Given the description of an element on the screen output the (x, y) to click on. 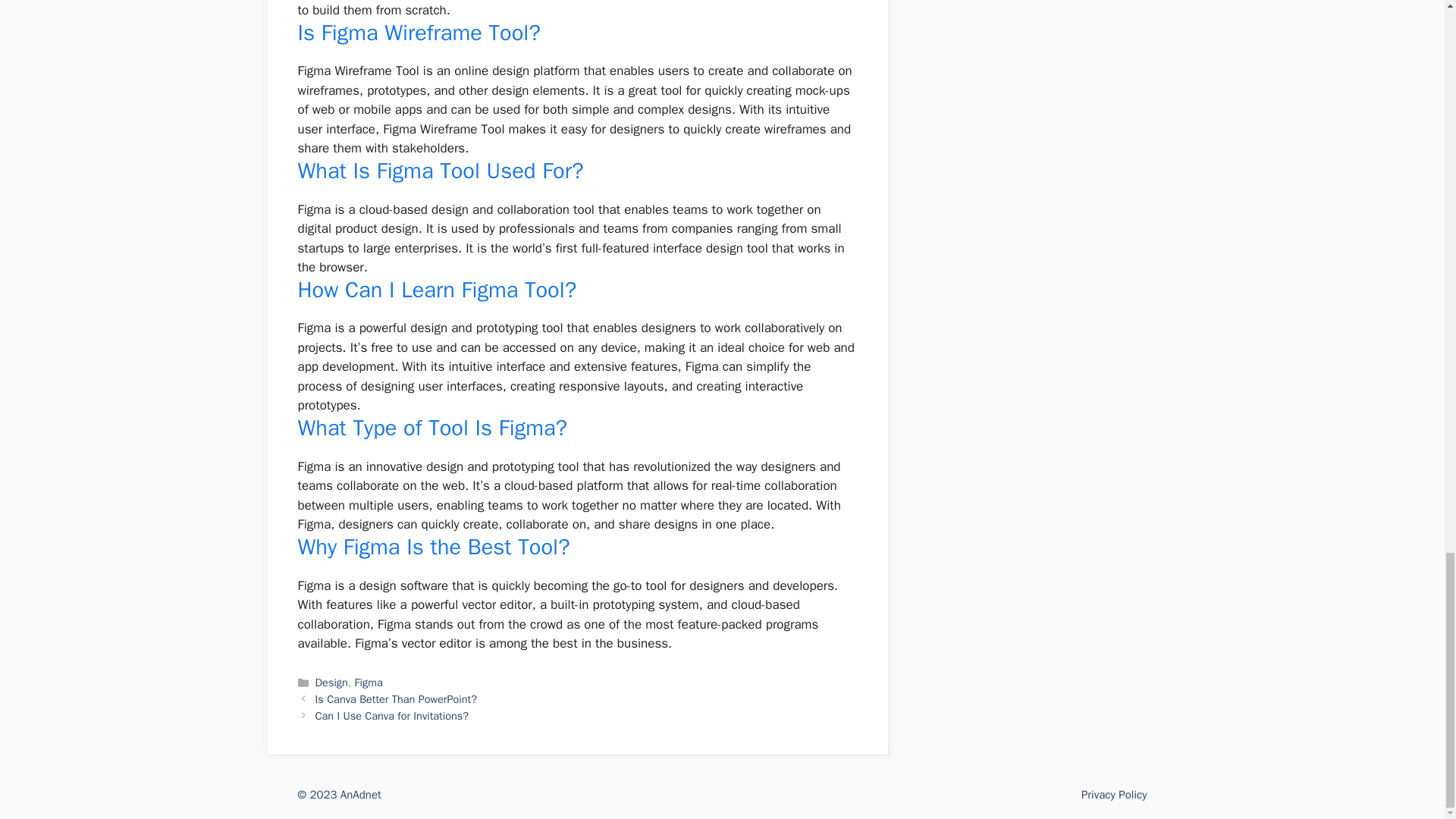
Design (331, 682)
What Is Figma Tool Used For? (440, 171)
Is Canva Better Than PowerPoint? (396, 698)
Privacy Policy (1114, 794)
Can I Use Canva for Invitations? (391, 715)
Figma (368, 682)
What Type of Tool Is Figma? (432, 428)
Is Figma Wireframe Tool? (418, 32)
How Can I Learn Figma Tool? (436, 289)
Why Figma Is the Best Tool? (433, 547)
